Given the description of an element on the screen output the (x, y) to click on. 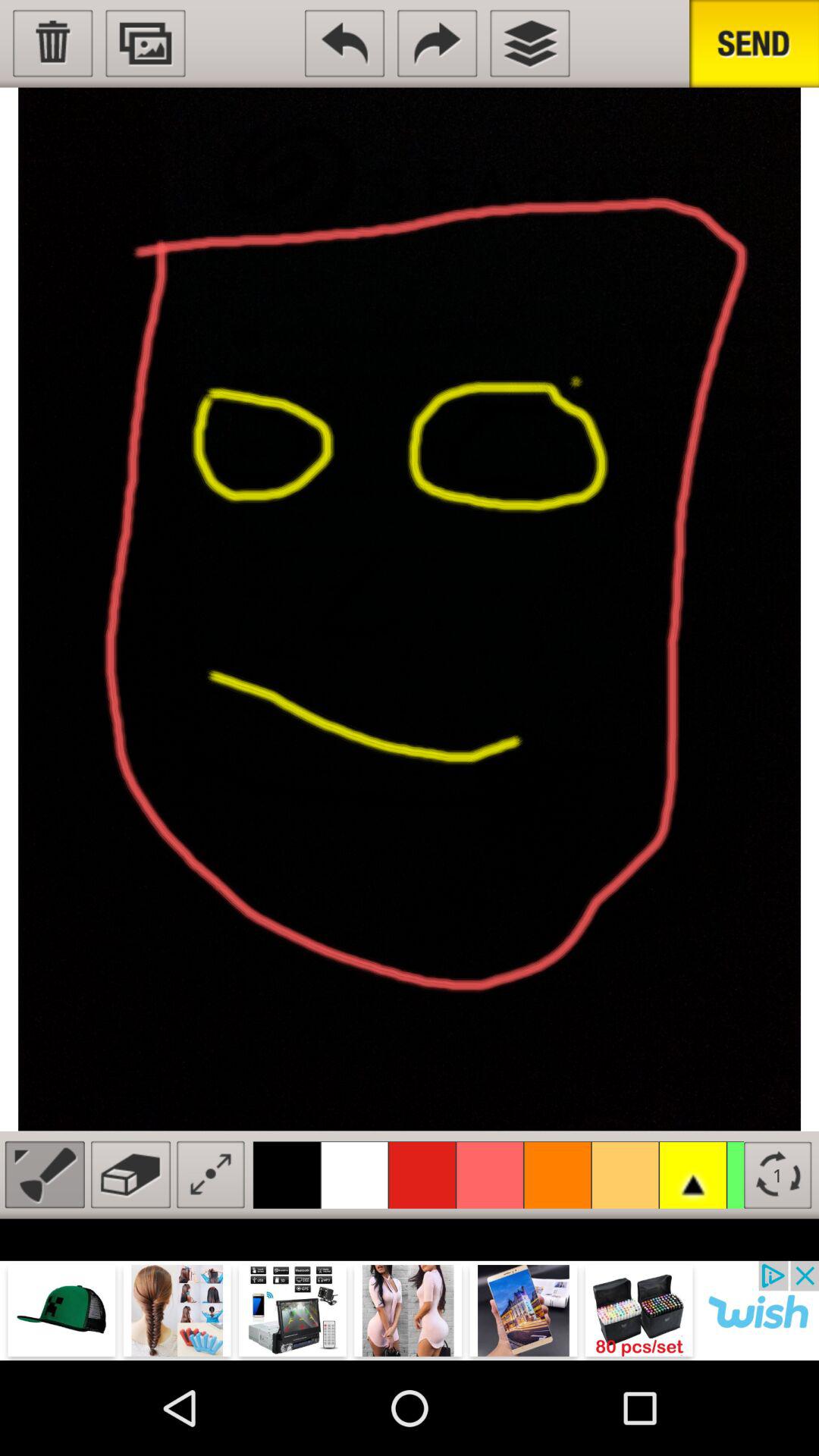
expand image button (210, 1174)
